Given the description of an element on the screen output the (x, y) to click on. 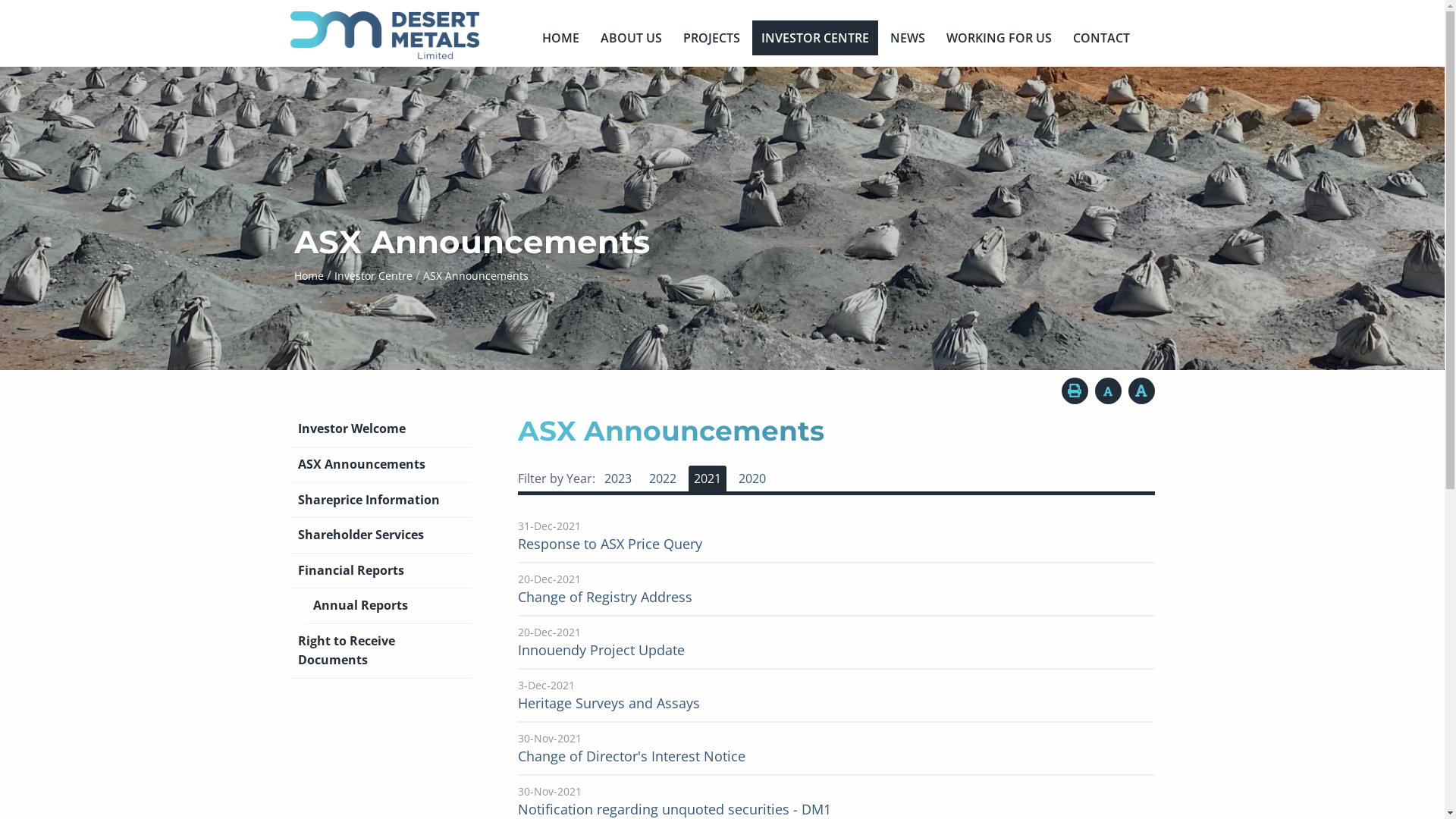
2021 Element type: text (707, 478)
Innouendy Project Update Element type: text (600, 649)
Financial Reports Element type: text (380, 571)
2023 Element type: text (618, 478)
Shareprice Information Element type: text (380, 500)
ASX Announcements Element type: text (474, 275)
Heritage Surveys and Assays Element type: text (608, 702)
Right to Receive Documents Element type: text (380, 651)
Shareholder Services Element type: text (380, 535)
ASX Announcements Element type: text (380, 465)
Print Page Element type: hover (1074, 390)
Change of Director's Interest Notice Element type: text (630, 755)
Change of Registry Address Element type: text (604, 596)
Investor Centre Element type: text (372, 275)
HOME Element type: text (560, 37)
Font Smaller Element type: hover (1108, 390)
Response to ASX Price Query Element type: text (609, 543)
PROJECTS Element type: text (711, 37)
2022 Element type: text (661, 478)
Annual Reports Element type: text (387, 606)
CONTACT Element type: text (1101, 37)
WORKING FOR US Element type: text (998, 37)
ABOUT US Element type: text (631, 37)
2020 Element type: text (751, 478)
Home Element type: text (308, 275)
NEWS Element type: text (907, 37)
Font Larger Element type: hover (1141, 390)
Investor Welcome Element type: text (380, 429)
INVESTOR CENTRE Element type: text (815, 37)
Notification regarding unquoted securities - DM1 Element type: text (673, 809)
